Given the description of an element on the screen output the (x, y) to click on. 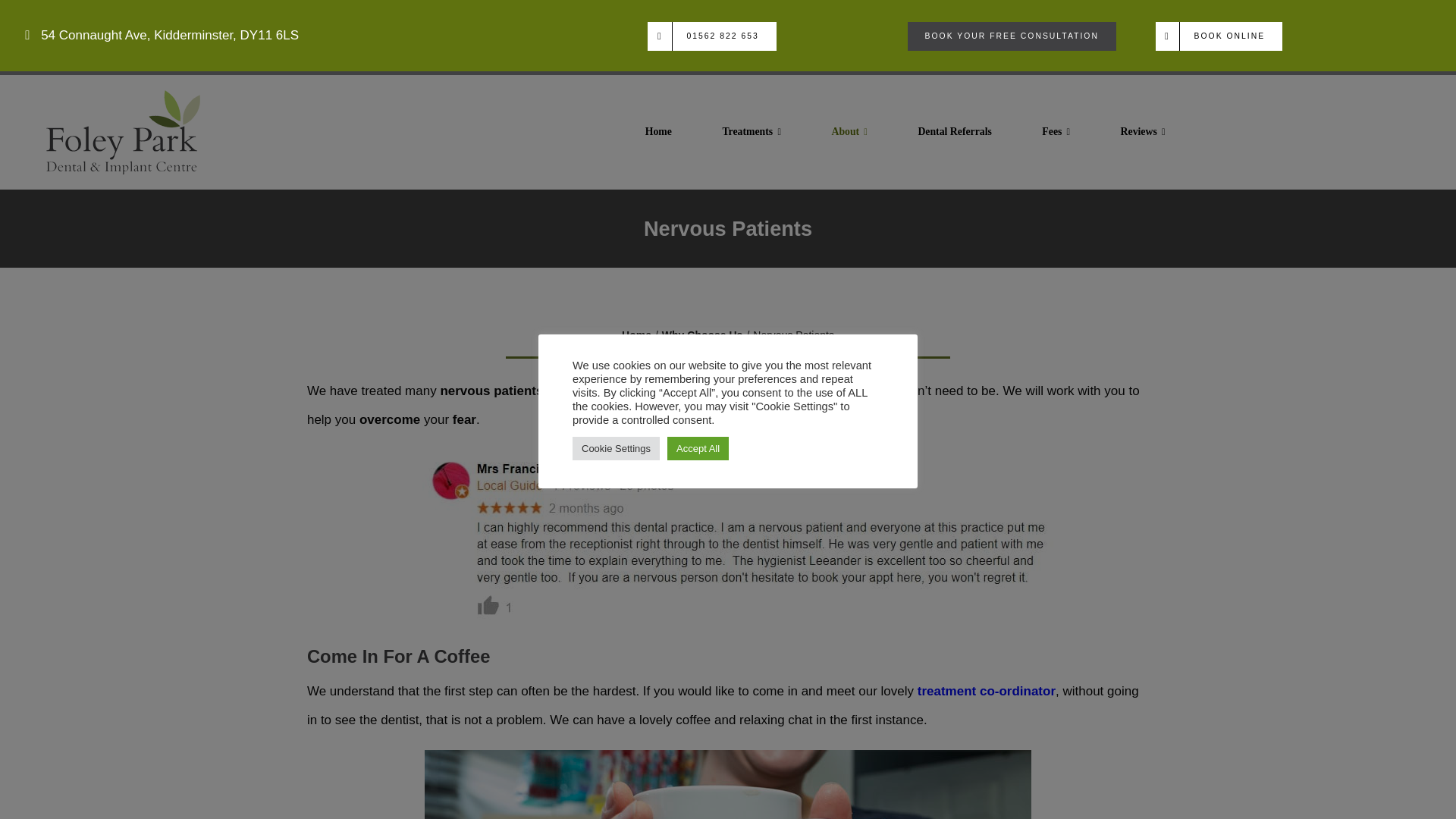
BOOK ONLINE (1210, 36)
Treatments (745, 131)
01562 822 653 (706, 36)
BOOK YOUR FREE CONSULTATION (1002, 36)
